Given the description of an element on the screen output the (x, y) to click on. 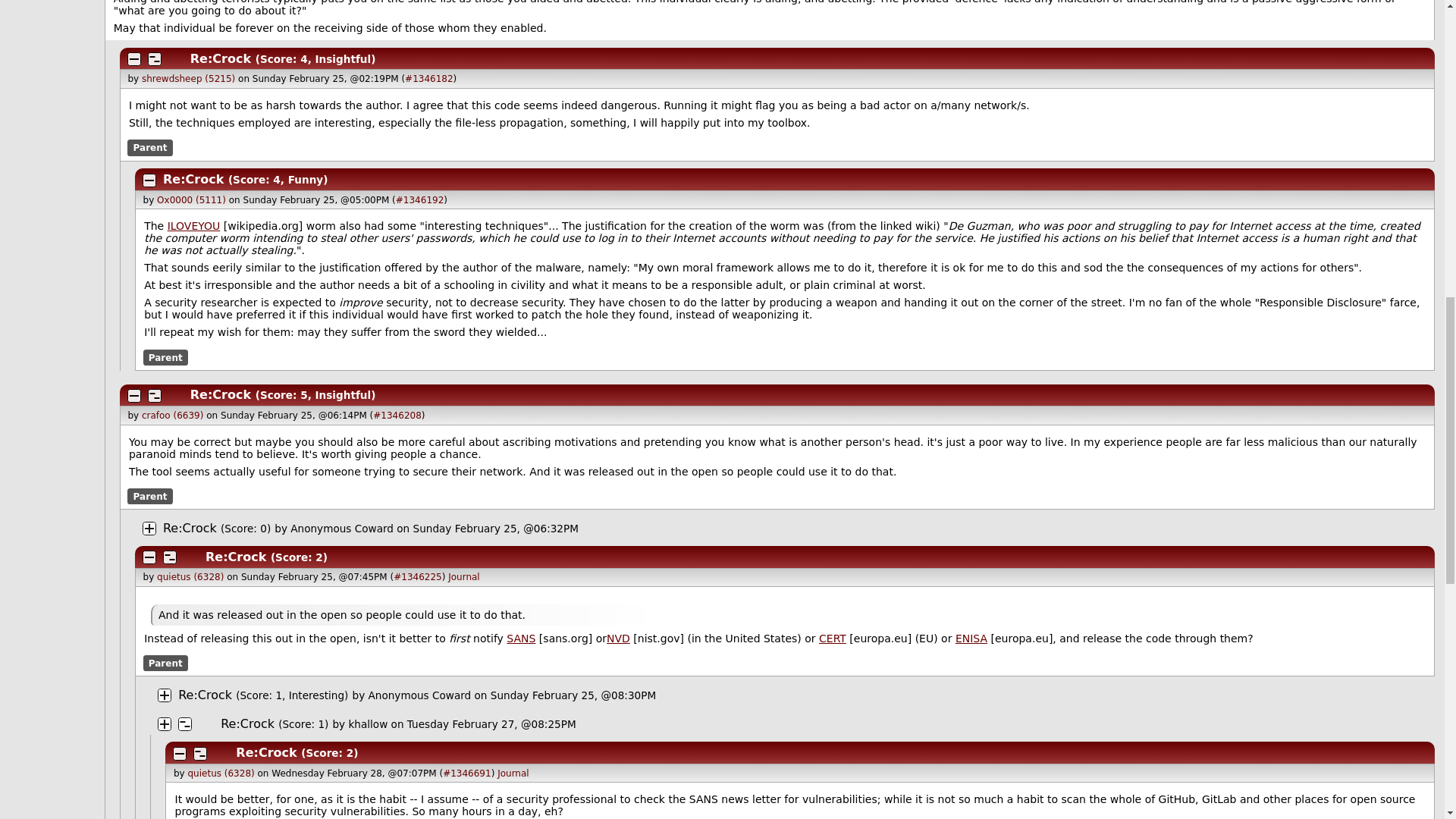
wikipedia.org (194, 225)
Show all comments in tree (175, 59)
